Given the description of an element on the screen output the (x, y) to click on. 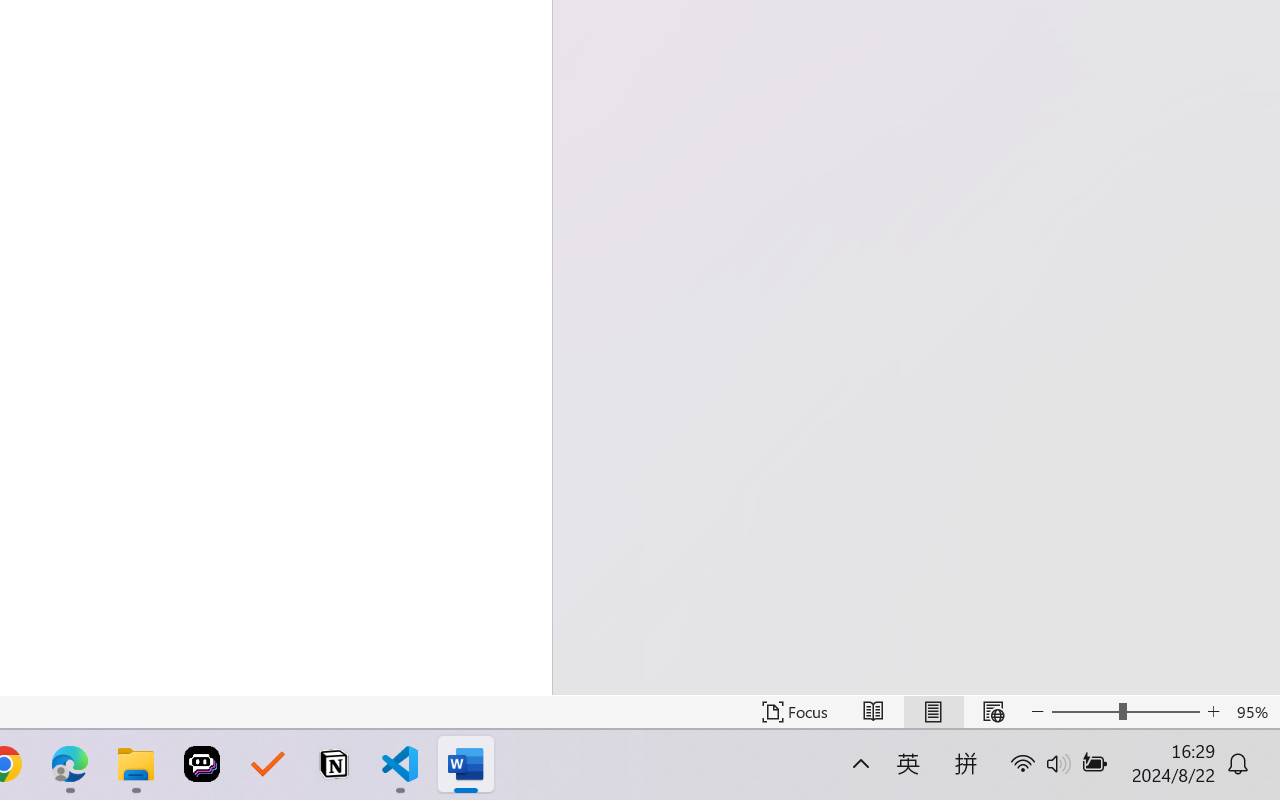
Zoom 95% (1253, 712)
